Given the description of an element on the screen output the (x, y) to click on. 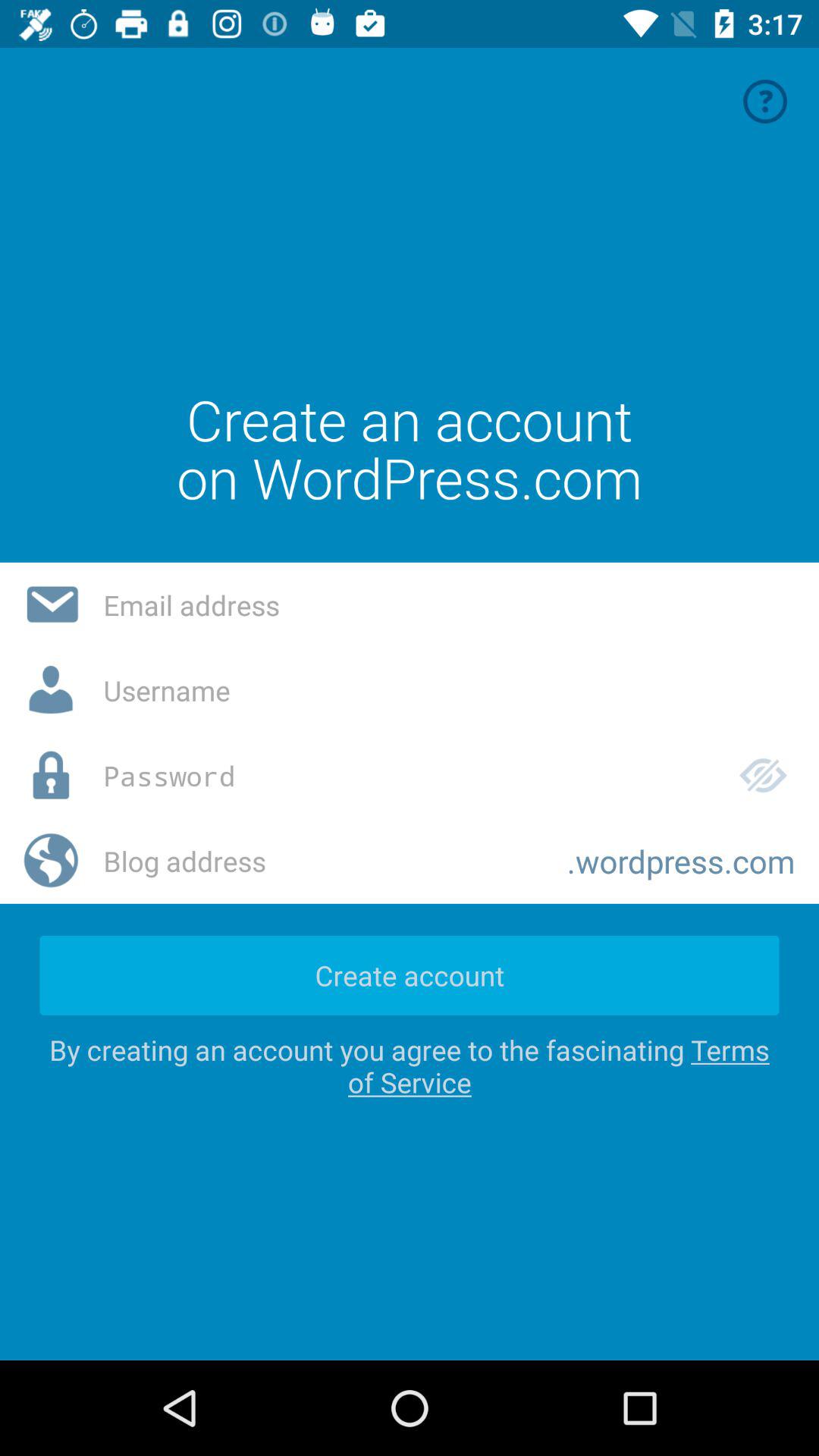
press item at the top right corner (765, 101)
